Given the description of an element on the screen output the (x, y) to click on. 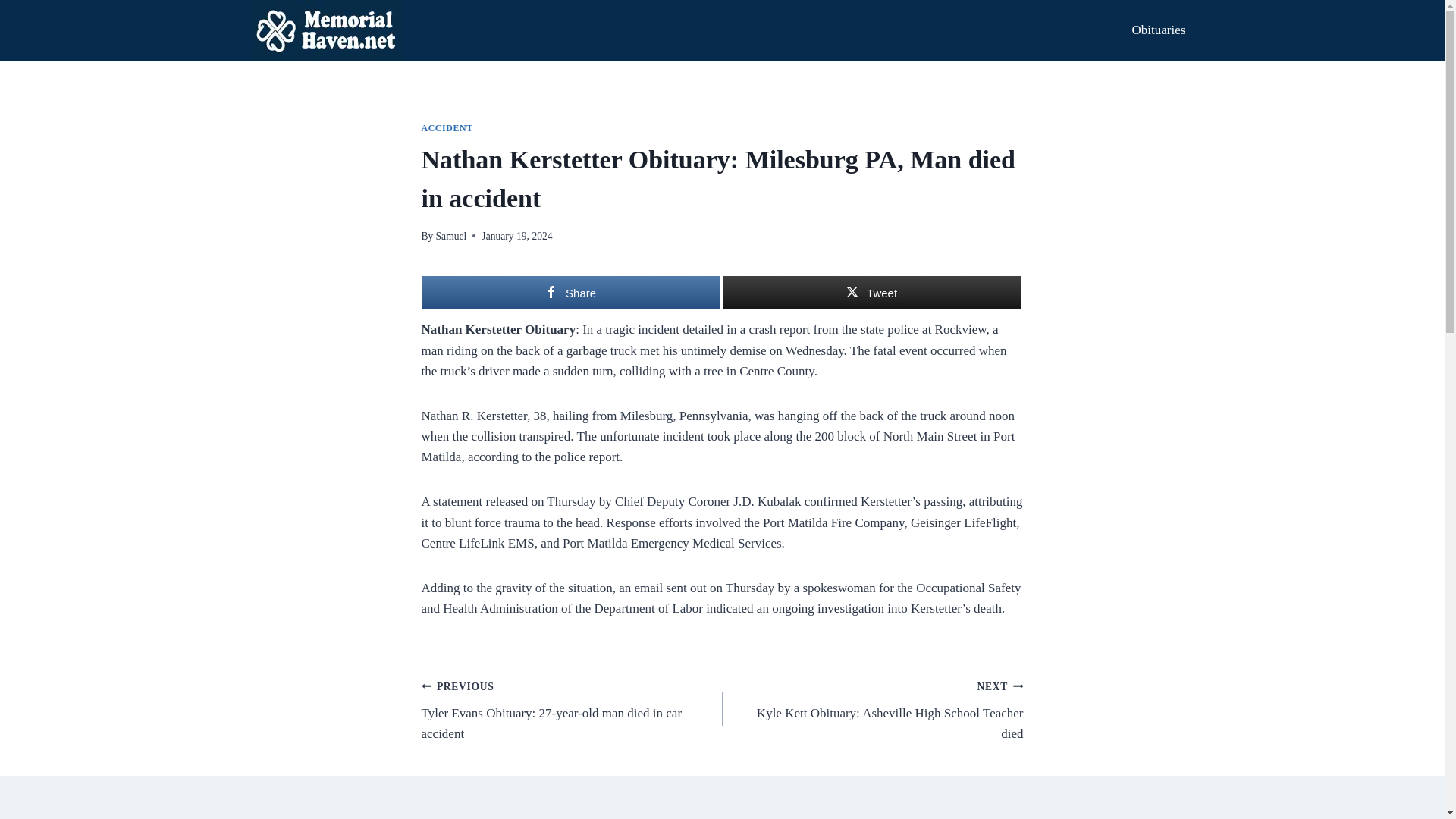
ACCIDENT (447, 127)
Obituaries (1158, 30)
Samuel (451, 235)
Tweet (871, 292)
Share (571, 292)
